Given the description of an element on the screen output the (x, y) to click on. 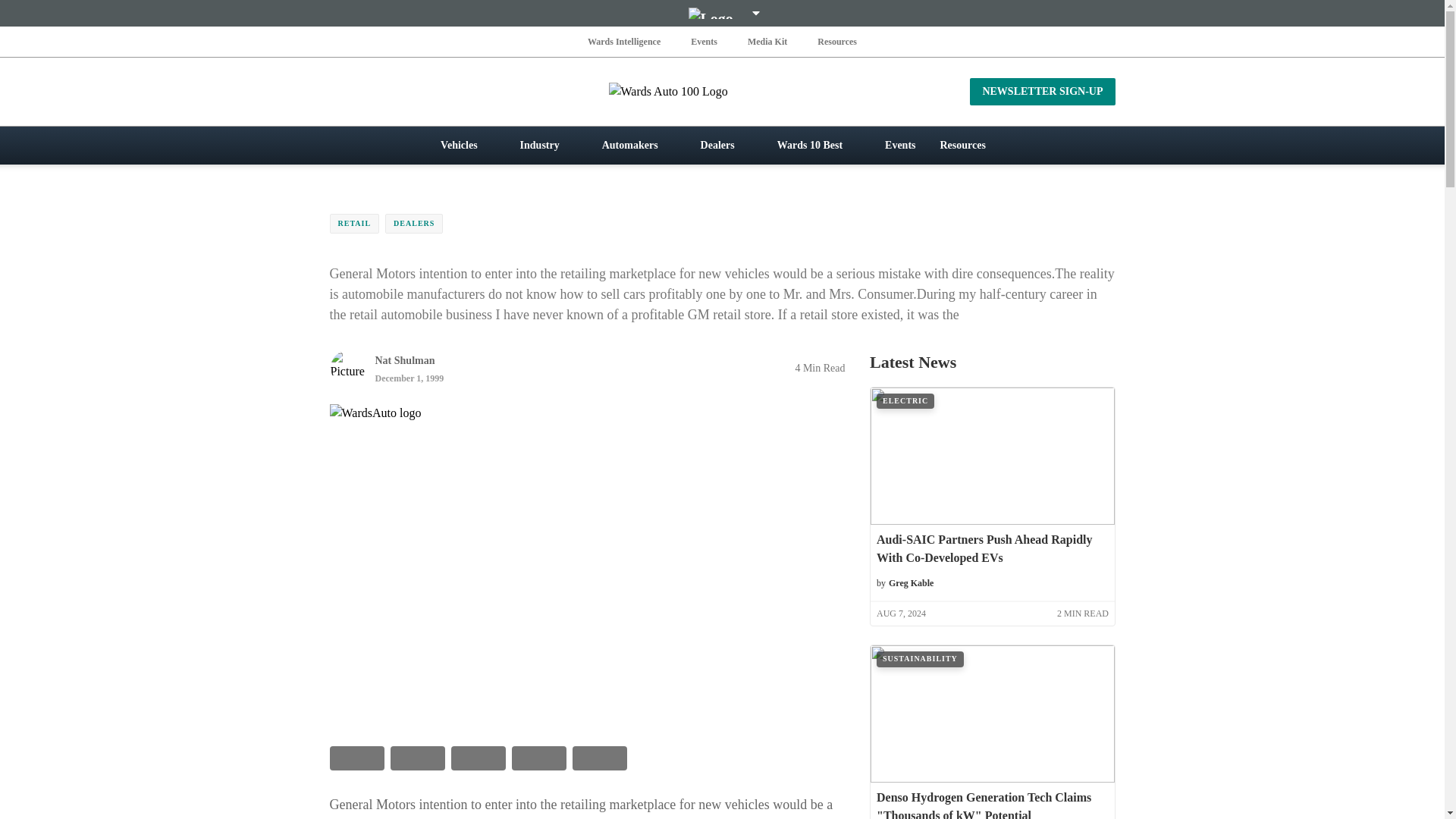
Picture of Nat Shulman (347, 367)
Events (703, 41)
NEWSLETTER SIGN-UP (1042, 90)
Wards Auto 100 Logo (721, 91)
Wards Intelligence (624, 41)
Media Kit (767, 41)
Resources (836, 41)
